Given the description of an element on the screen output the (x, y) to click on. 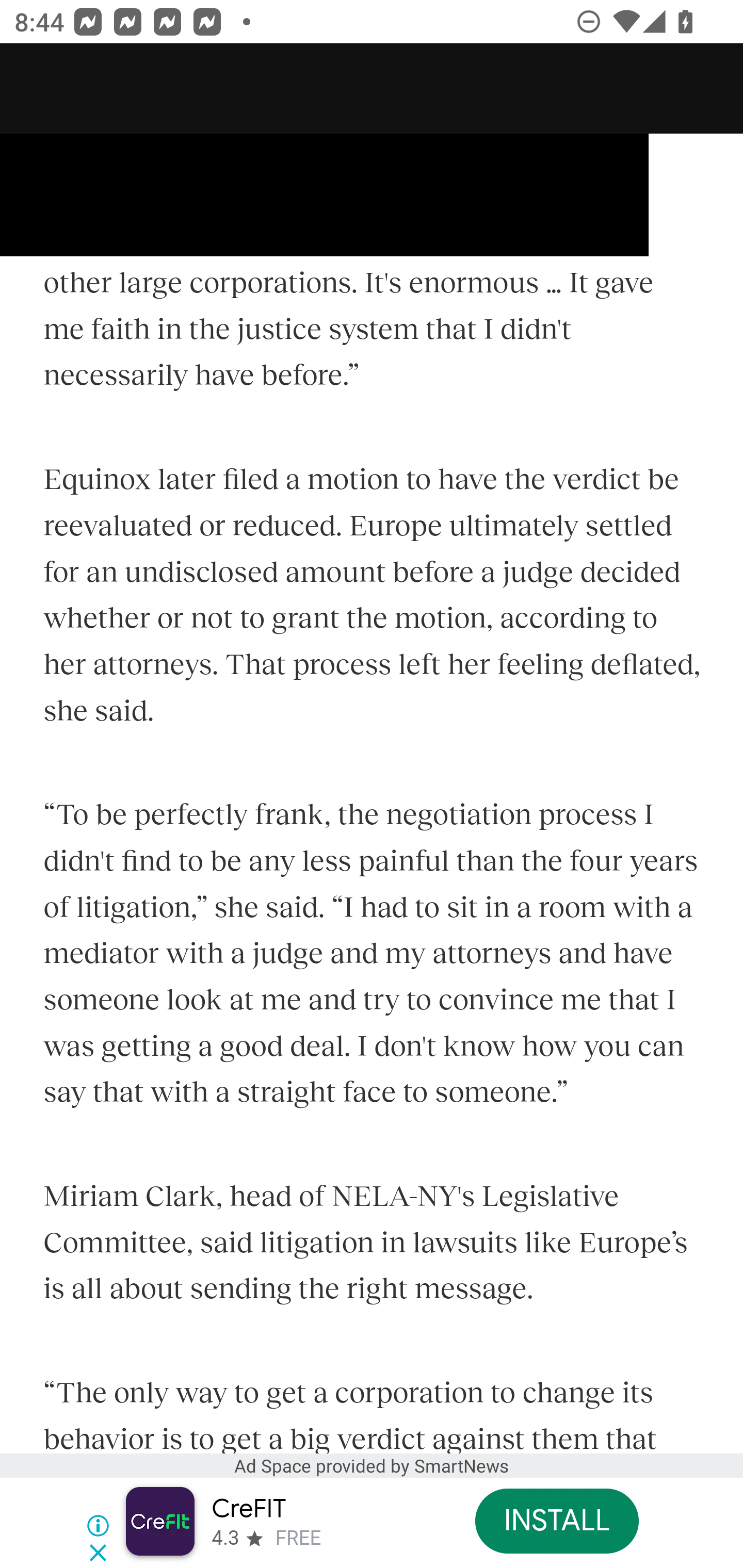
INSTALL (556, 1520)
CreFIT (248, 1508)
